Given the description of an element on the screen output the (x, y) to click on. 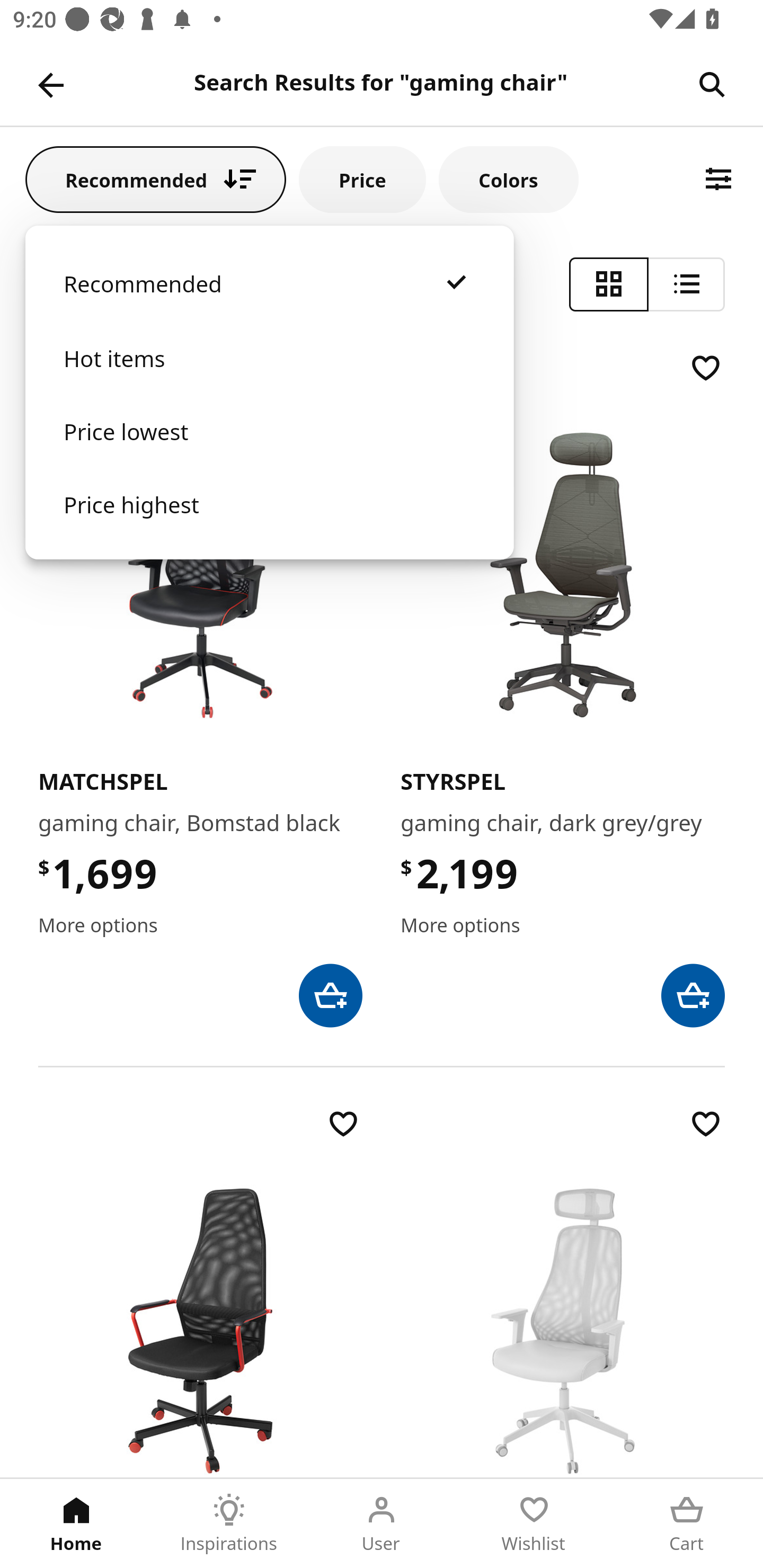
Recommended (155, 179)
Price (362, 179)
Colors (508, 179)
Recommended (269, 301)
Hot items (269, 376)
Price lowest (269, 449)
Price highest (269, 522)
Home
Tab 1 of 5 (76, 1522)
Inspirations
Tab 2 of 5 (228, 1522)
User
Tab 3 of 5 (381, 1522)
Wishlist
Tab 4 of 5 (533, 1522)
Cart
Tab 5 of 5 (686, 1522)
